Given the description of an element on the screen output the (x, y) to click on. 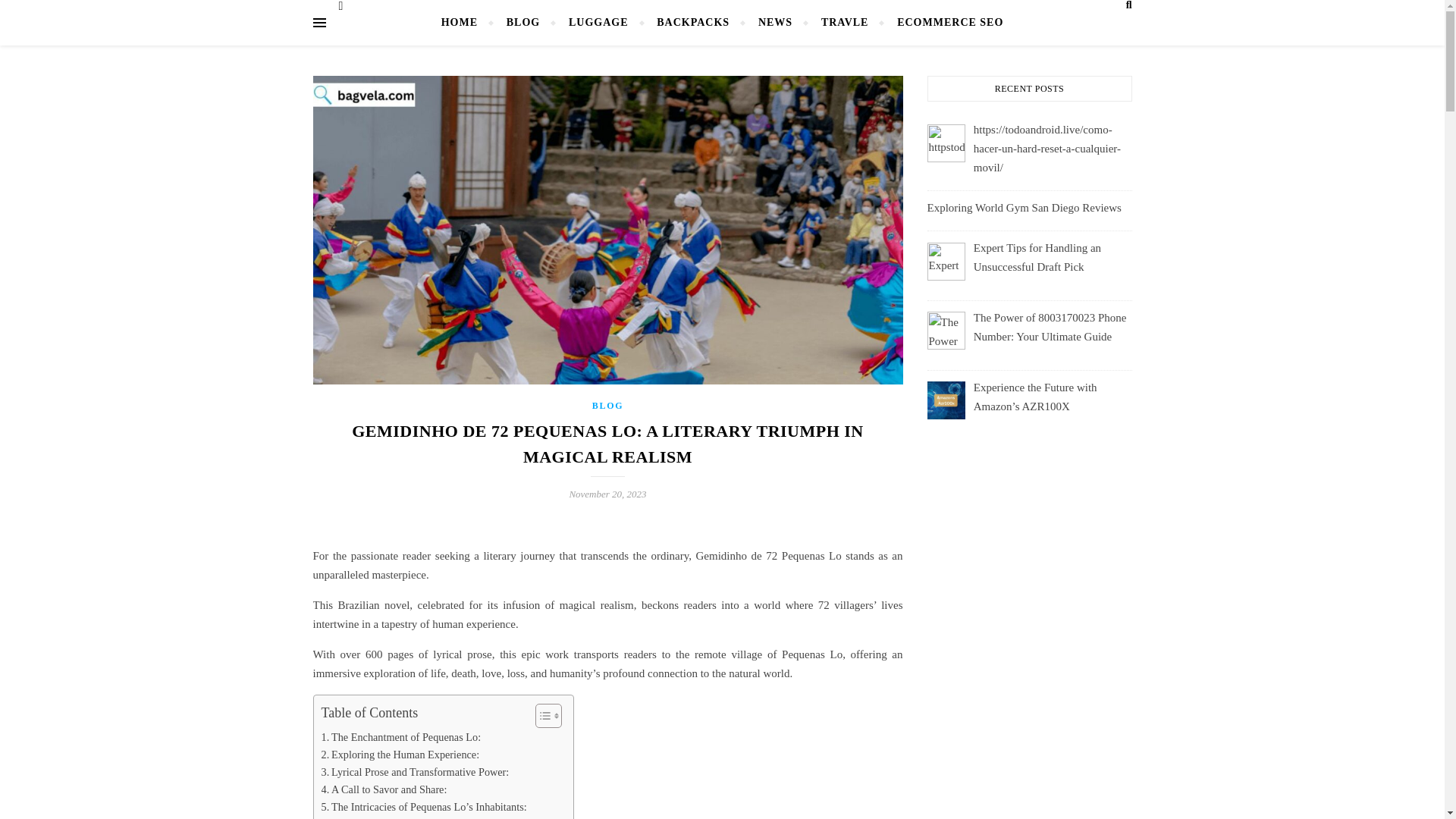
Lyrical Prose and Transformative Power: (415, 772)
BACKPACKS (692, 22)
Exploring the Human Experience: (400, 754)
BLOG (607, 405)
A Call to Savor and Share: (383, 789)
Lyrical Prose and Transformative Power: (415, 772)
A Call to Savor and Share: (383, 789)
Exploring the Human Experience: (400, 754)
BLOG (523, 22)
The Enchantment of Pequenas Lo: (401, 737)
